Given the description of an element on the screen output the (x, y) to click on. 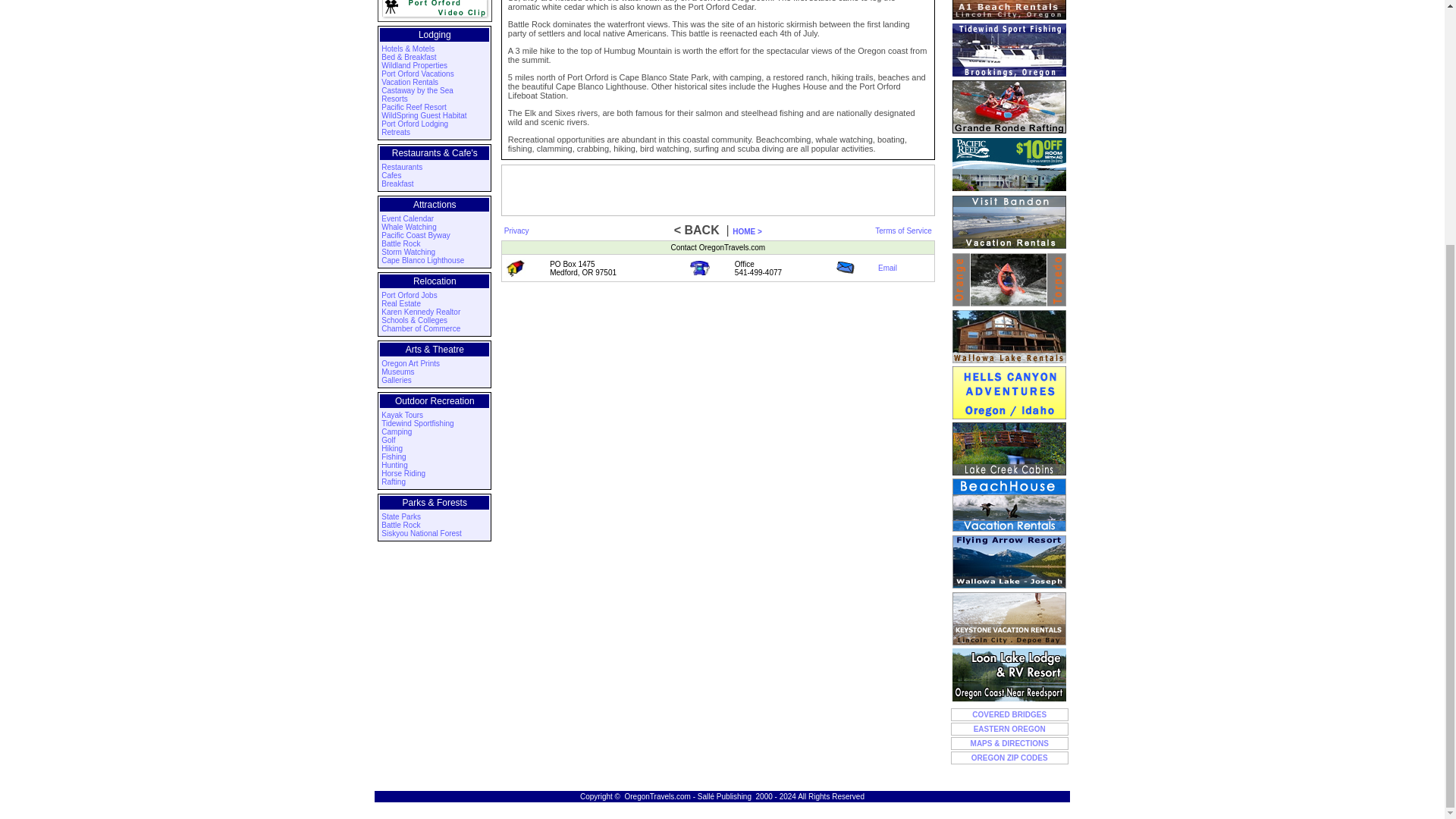
BeachHouse Vacation Rentals (1008, 504)
Advertisement (717, 189)
Lake Creek Lodge, Camp Sherman, Oregon (1008, 448)
